Given the description of an element on the screen output the (x, y) to click on. 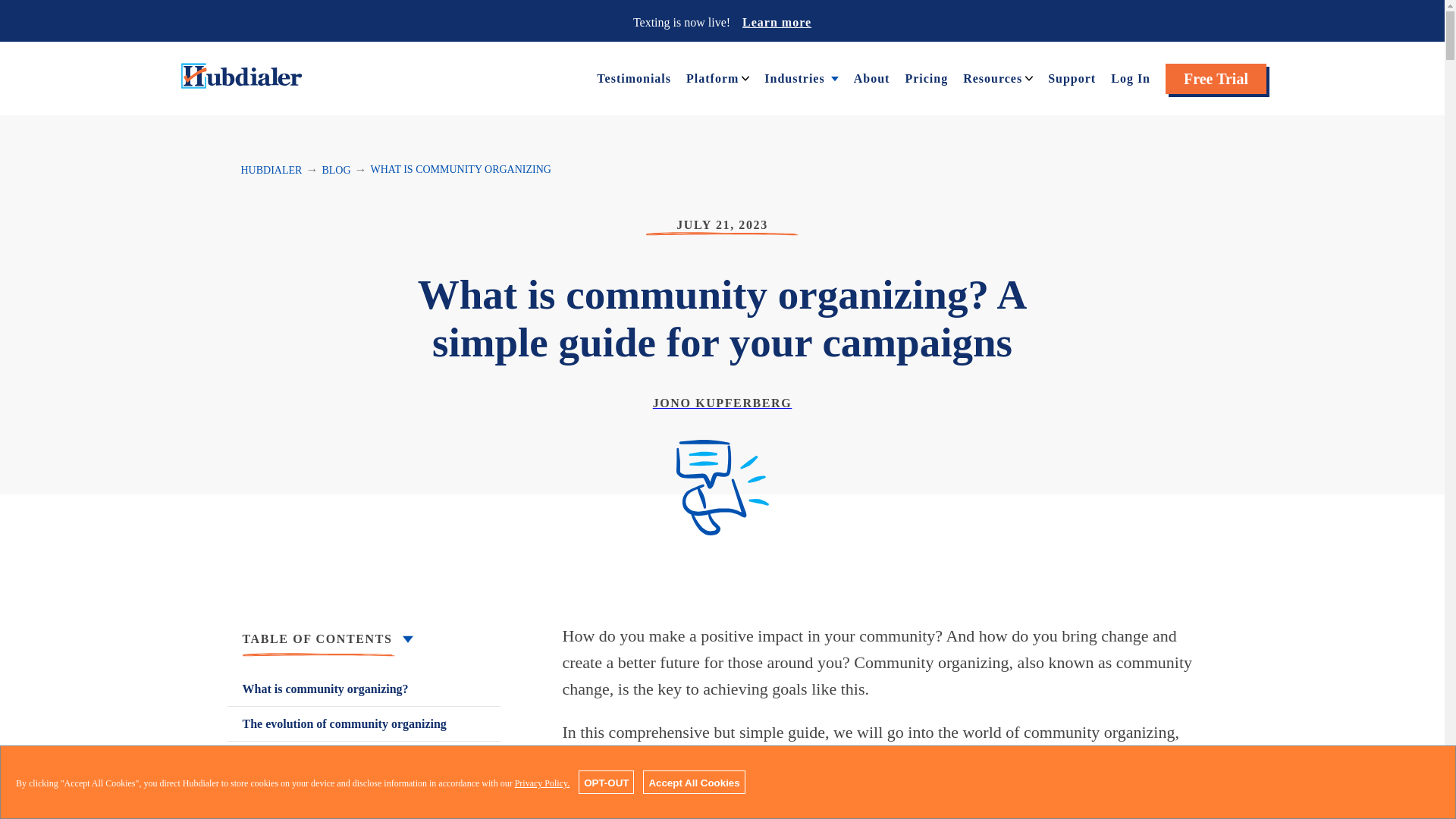
Log In (1130, 77)
Industries (794, 77)
What are the other steps in successful community organizing? (363, 807)
What is the first step in community organizing? (363, 768)
Support (1072, 77)
What is community organizing? (363, 688)
Resources (992, 77)
Platform (711, 77)
Pricing (925, 77)
The evolution of community organizing (363, 723)
Accept All Cookies (693, 781)
Free Trial (1216, 78)
BLOG (335, 170)
Testimonials (633, 77)
OPT-OUT (605, 781)
